Given the description of an element on the screen output the (x, y) to click on. 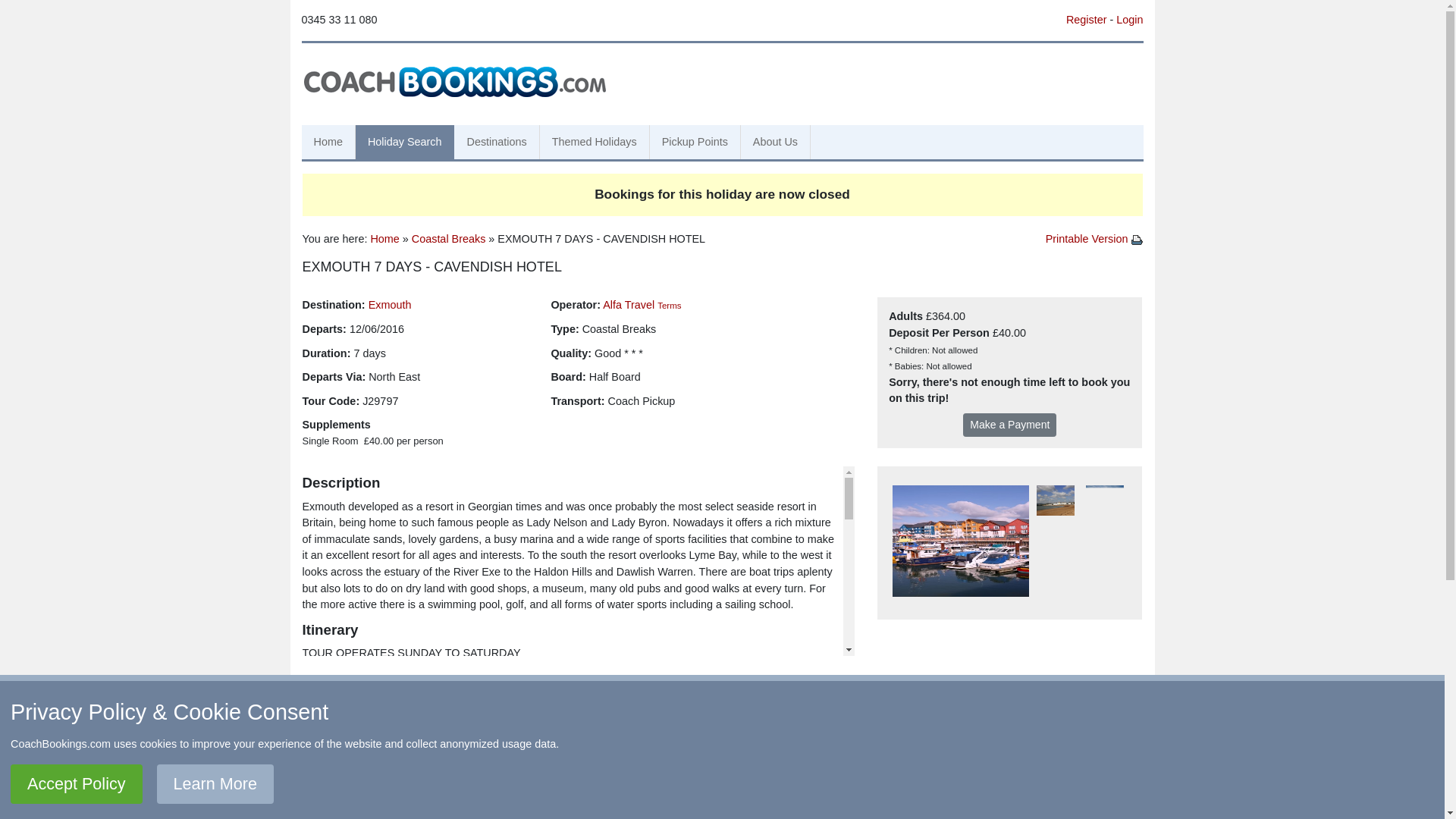
Map (465, 781)
Pickup Points (695, 142)
Alfa Travel (627, 304)
Destinations (496, 142)
Coach Bookings: Home (454, 79)
Map (528, 720)
Map (566, 750)
Coastal Breaks (449, 238)
Coach Bookings: Home (454, 80)
Register (1085, 19)
